Given the description of an element on the screen output the (x, y) to click on. 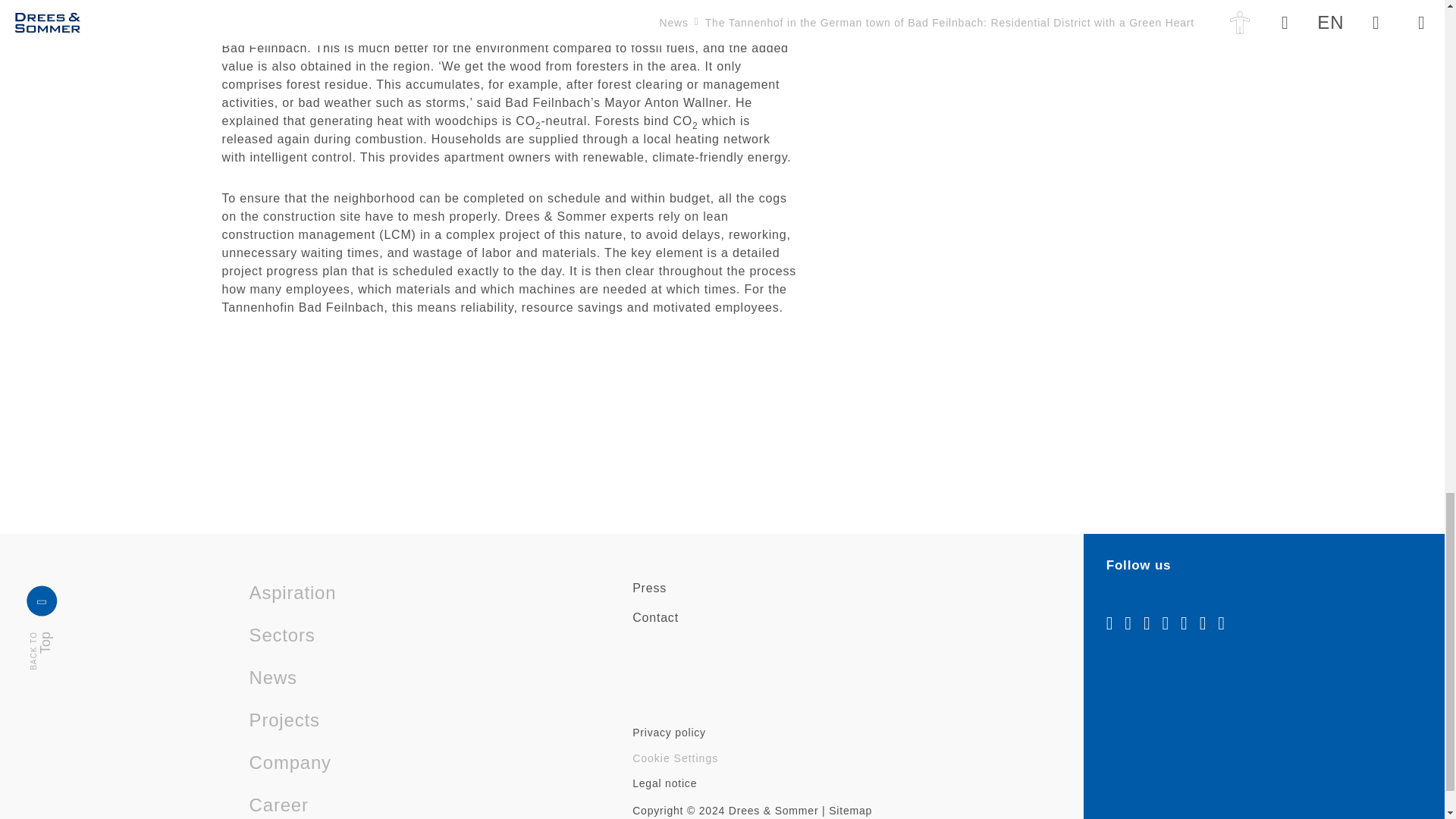
Press (648, 588)
Contact (654, 618)
Company (289, 762)
Aspiration (292, 592)
Sectors (281, 635)
Projects (284, 719)
Privacy policy (668, 732)
News (68, 601)
Legal notice (272, 677)
Cookie Settings (664, 783)
